Given the description of an element on the screen output the (x, y) to click on. 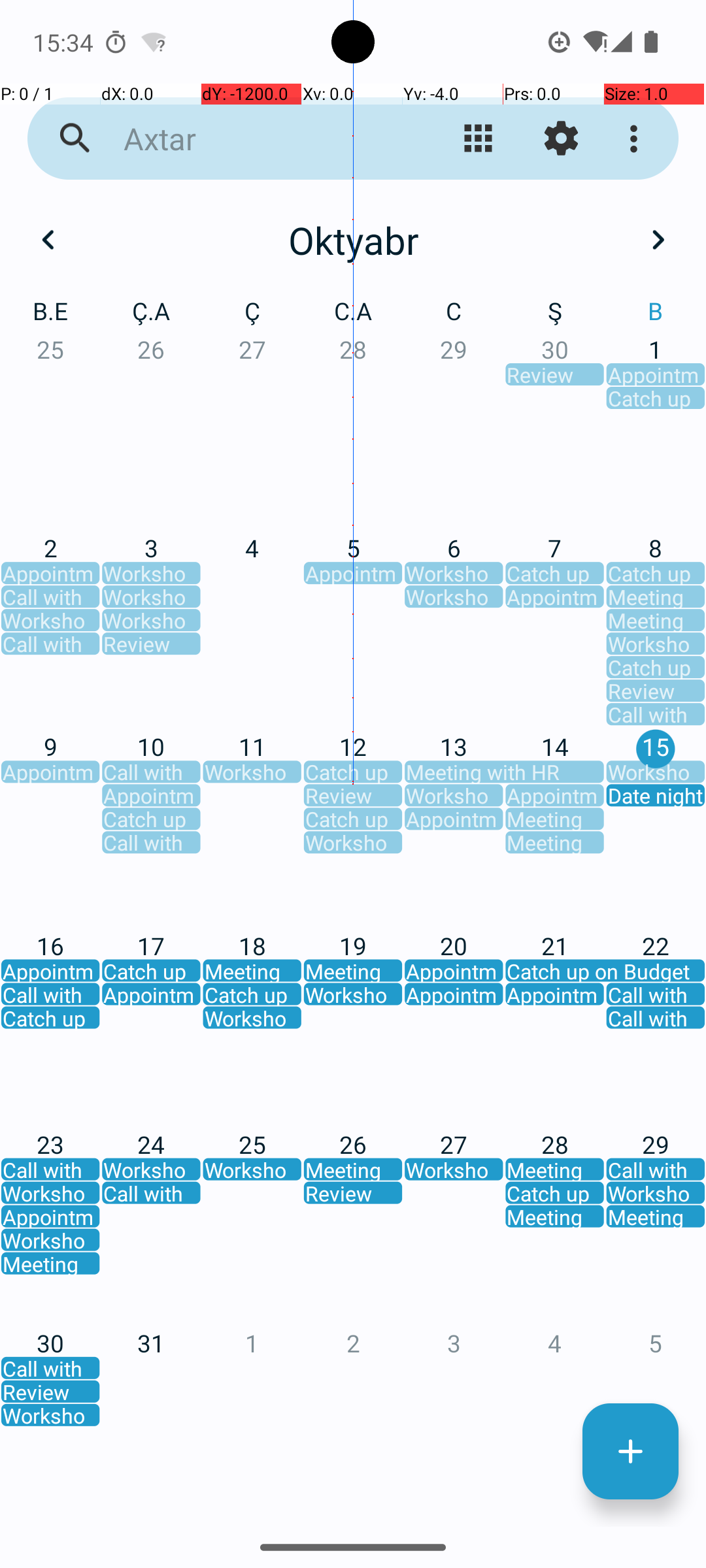
Axtar Element type: android.widget.EditText (252, 138)
Oktyabr Element type: android.widget.TextView (352, 239)
